Given the description of an element on the screen output the (x, y) to click on. 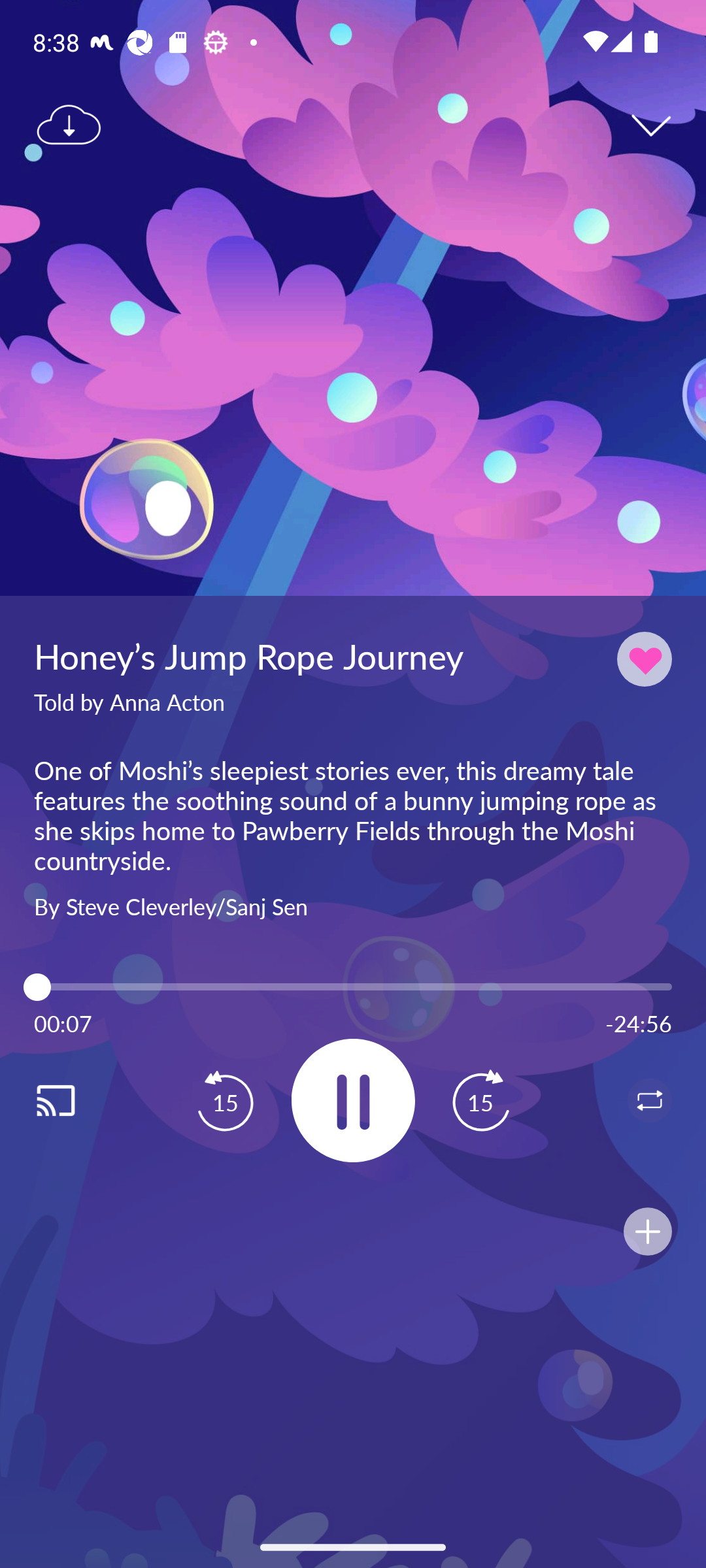
7.0 (352, 986)
Cast. Disconnected (76, 1100)
